Given the description of an element on the screen output the (x, y) to click on. 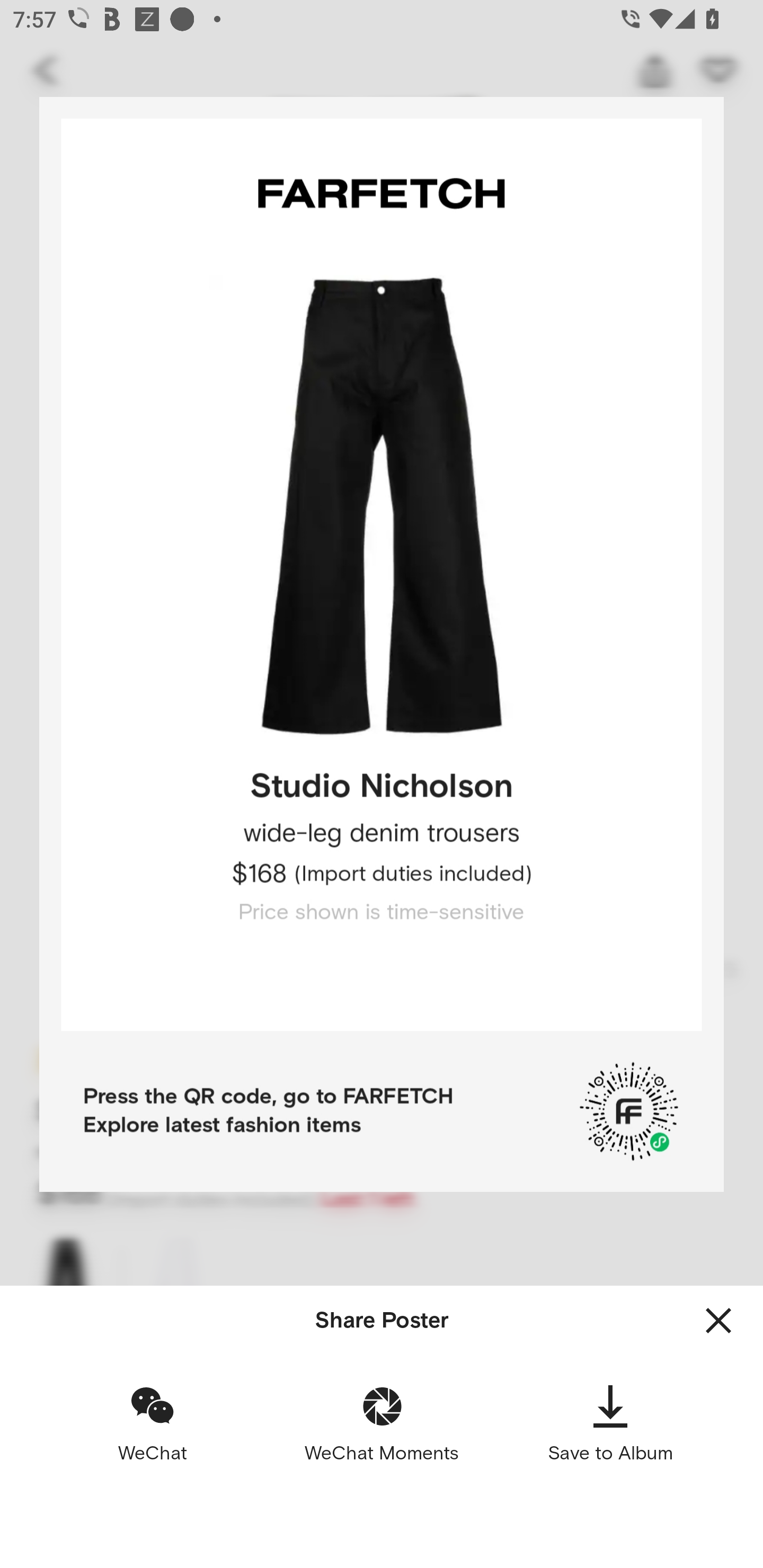
WeChat (152, 1423)
WeChat Moments (381, 1423)
Save to Album (609, 1423)
